Given the description of an element on the screen output the (x, y) to click on. 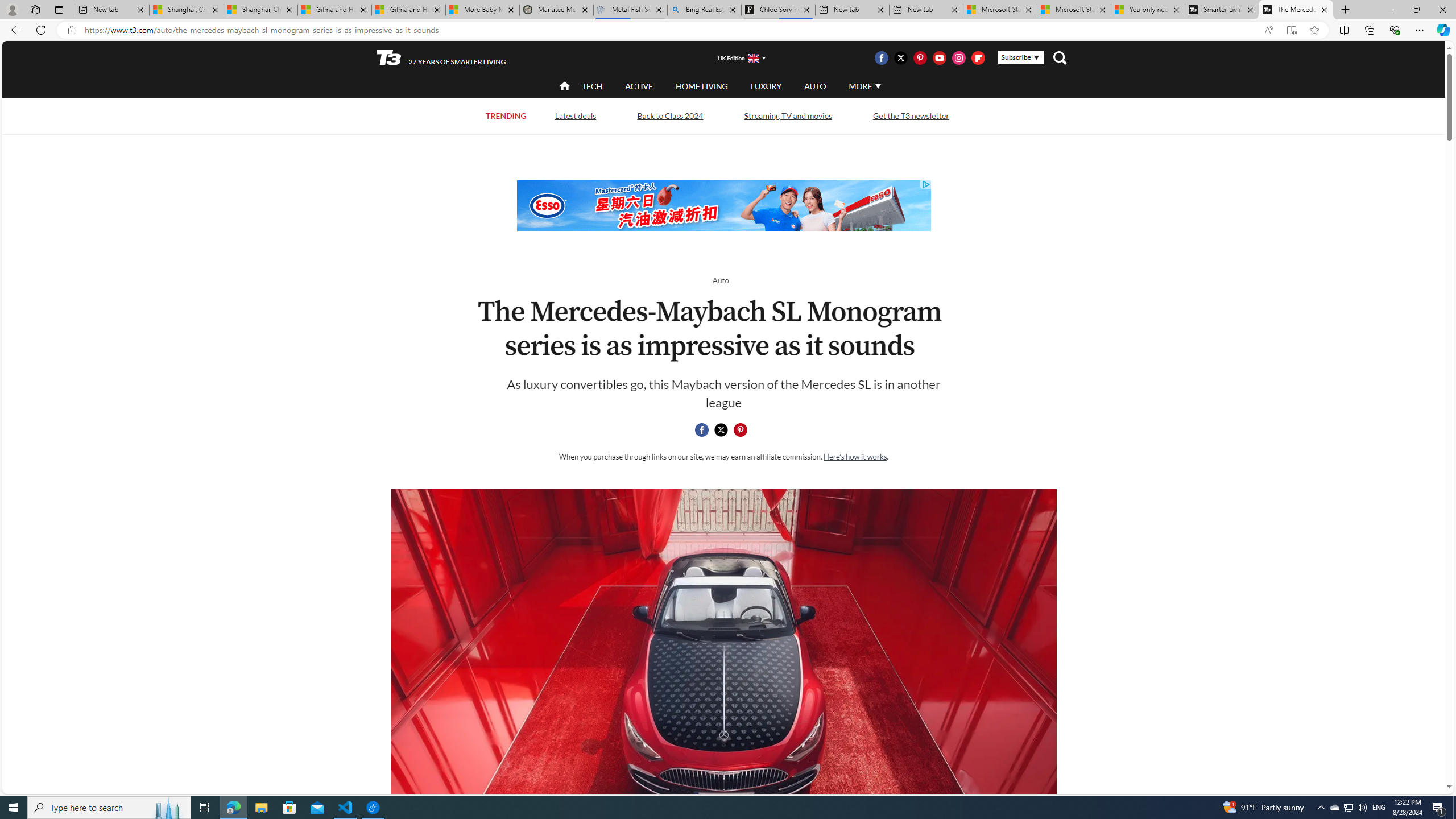
LUXURY (765, 86)
Latest deals (574, 115)
Visit us on Youtube (938, 57)
home (564, 86)
Get the T3 newsletter (911, 115)
Share this page on Facebook (701, 430)
Class: social__item (742, 431)
flag of UK (752, 57)
Enter Immersive Reader (F9) (1291, 29)
T3 27 YEARS OF SMARTER LIVING (441, 57)
Streaming TV and movies (788, 115)
Back to Class 2024 (670, 115)
Chloe Sorvino (777, 9)
UK Edition (736, 57)
